Given the description of an element on the screen output the (x, y) to click on. 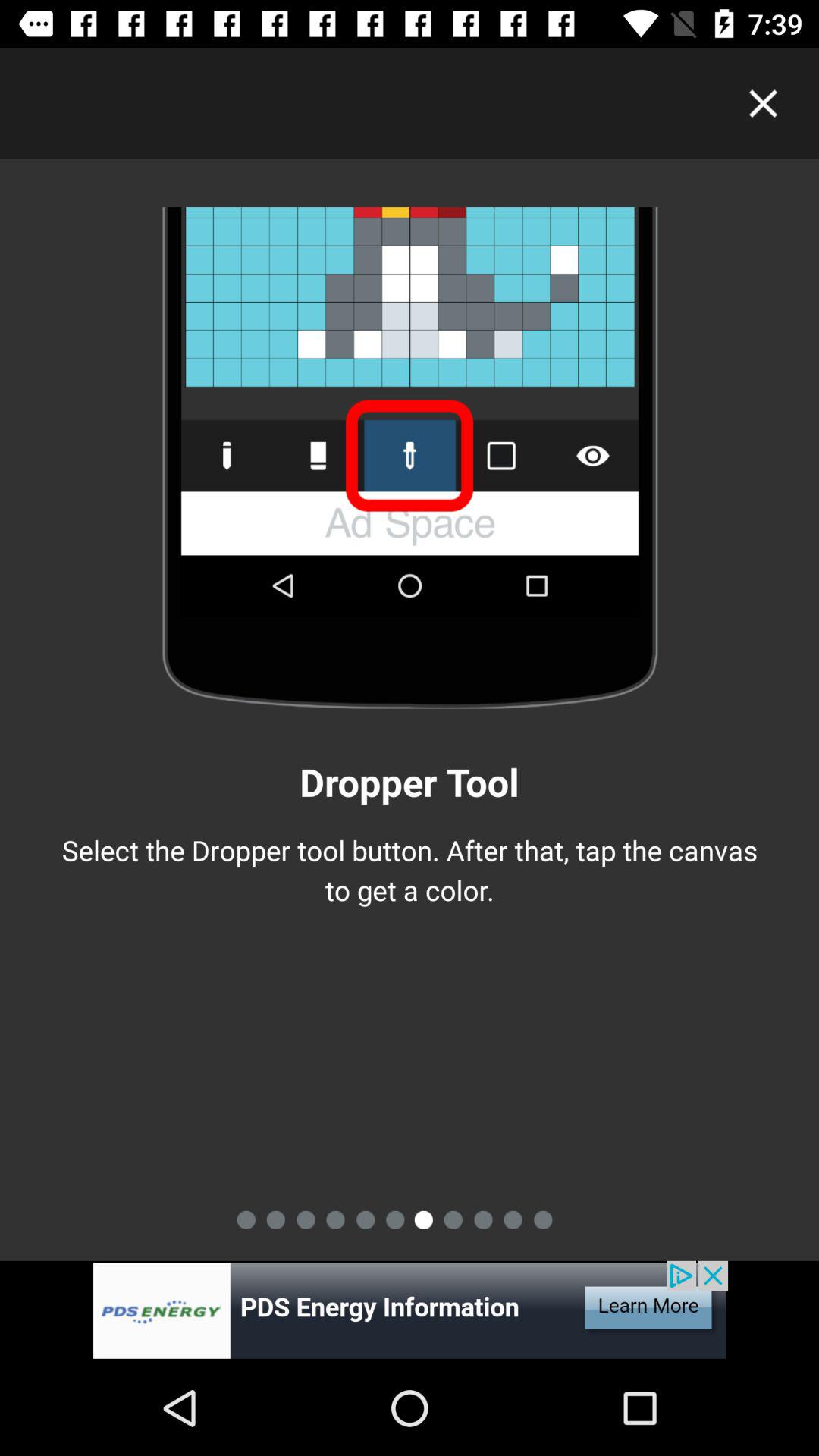
more info button (409, 1310)
